Given the description of an element on the screen output the (x, y) to click on. 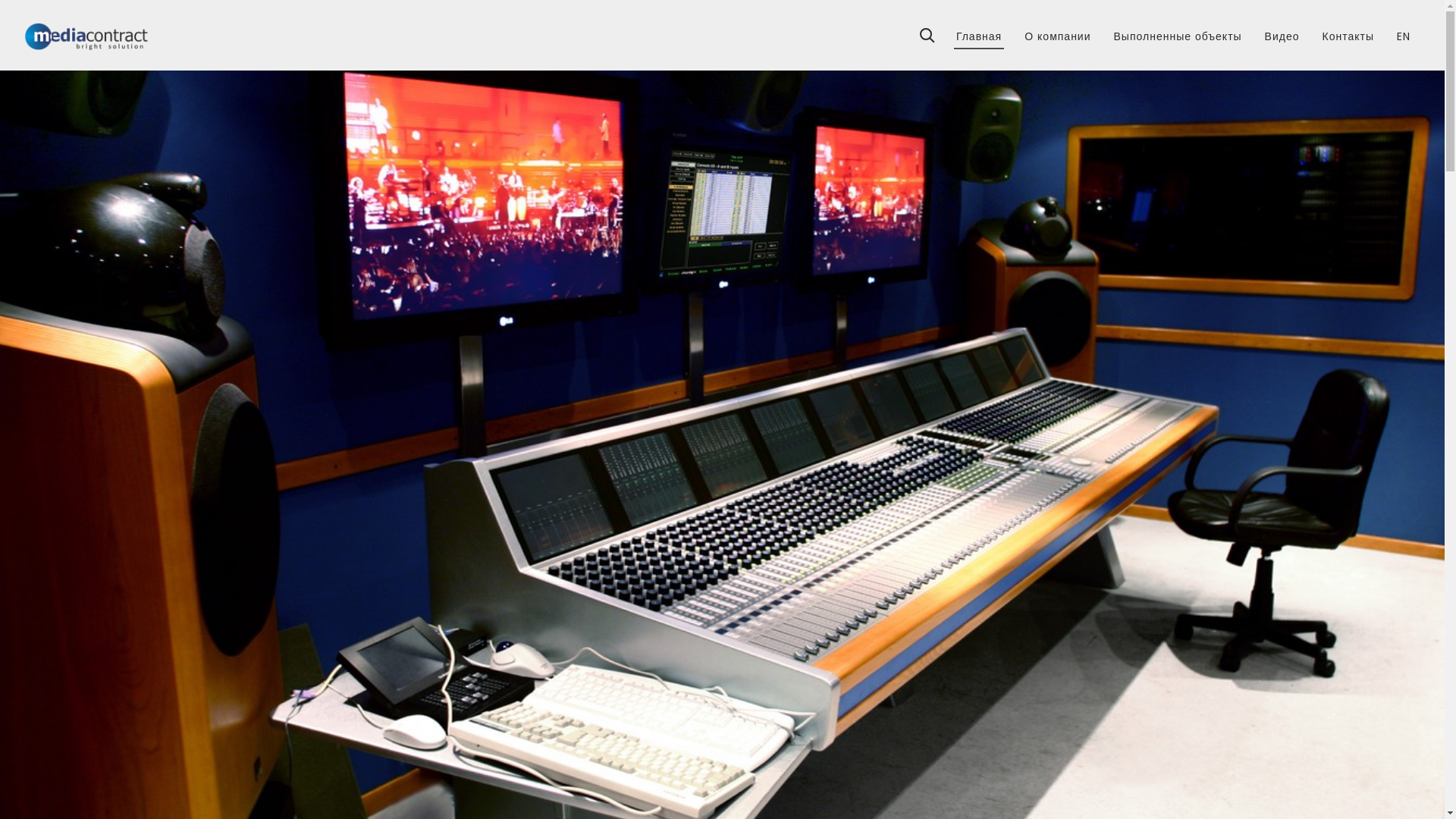
EN Element type: text (1403, 30)
